Given the description of an element on the screen output the (x, y) to click on. 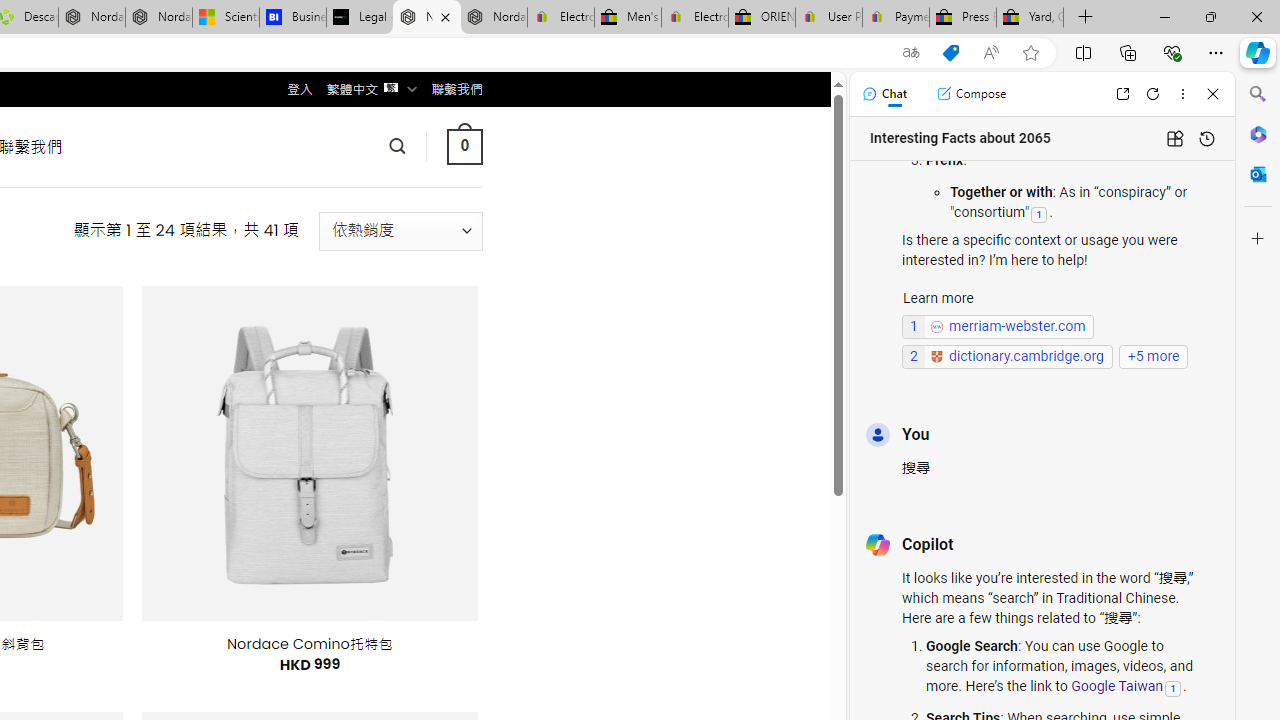
  0   (464, 146)
Minimize Search pane (1258, 94)
This site has coupons! Shopping in Microsoft Edge (950, 53)
